Given the description of an element on the screen output the (x, y) to click on. 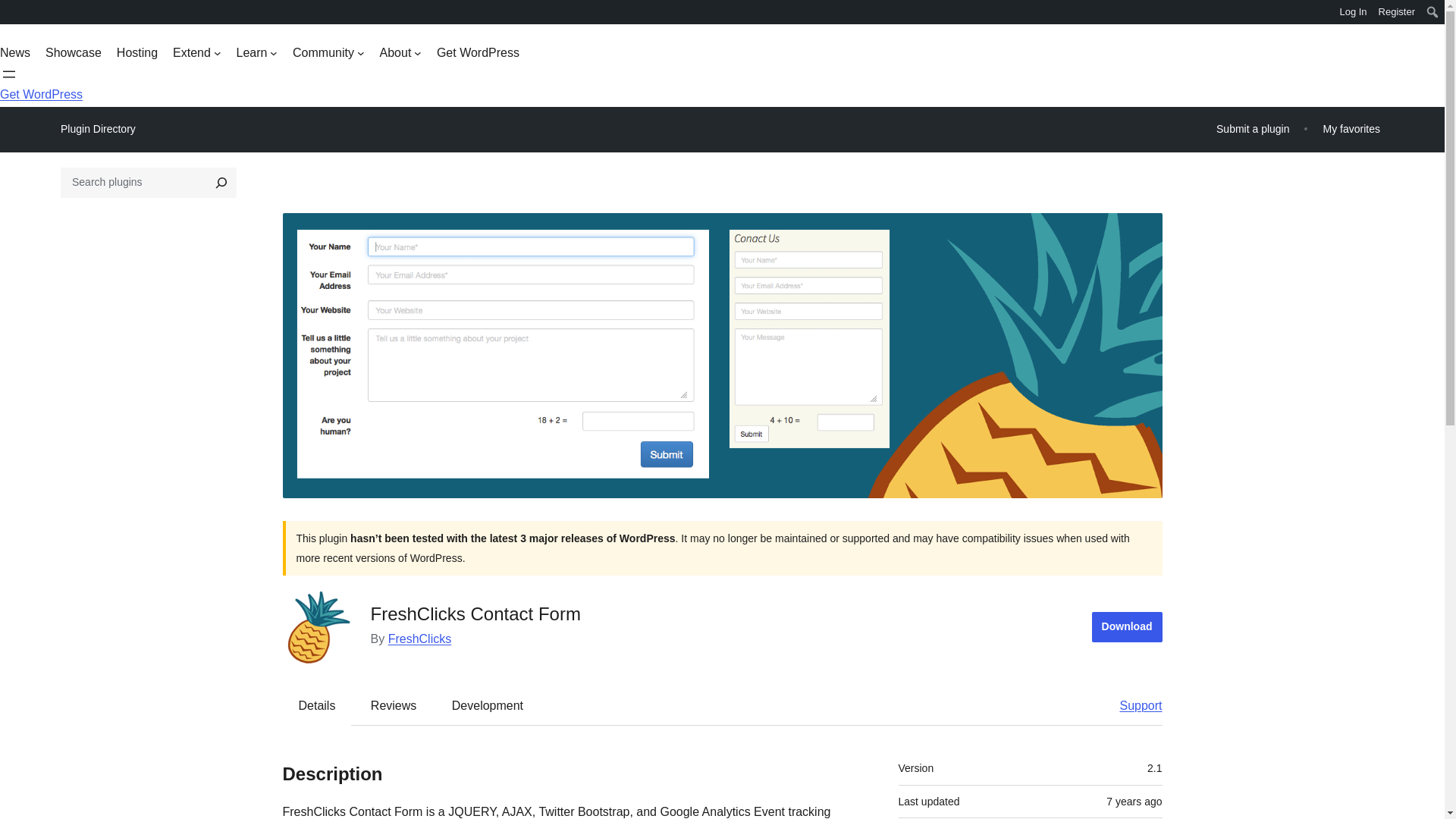
Extend (197, 52)
Get WordPress (41, 93)
WordPress.org (10, 10)
Get WordPress (477, 52)
Showcase (73, 52)
Register (1397, 12)
News (15, 52)
Community (328, 52)
Learn (256, 52)
Log In (1353, 12)
